Given the description of an element on the screen output the (x, y) to click on. 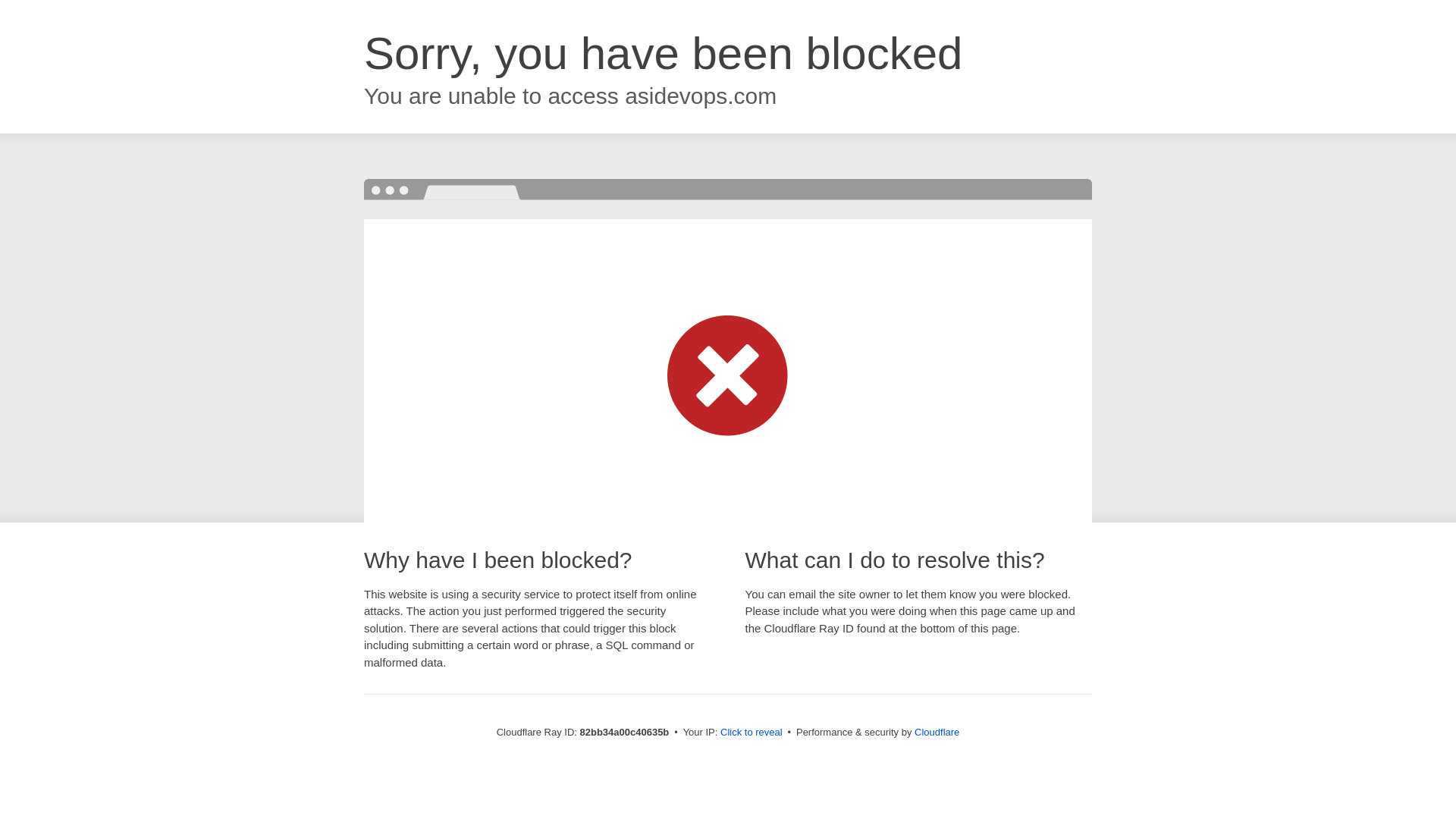
Cloudflare Element type: text (936, 731)
Click to reveal Element type: text (751, 732)
